Given the description of an element on the screen output the (x, y) to click on. 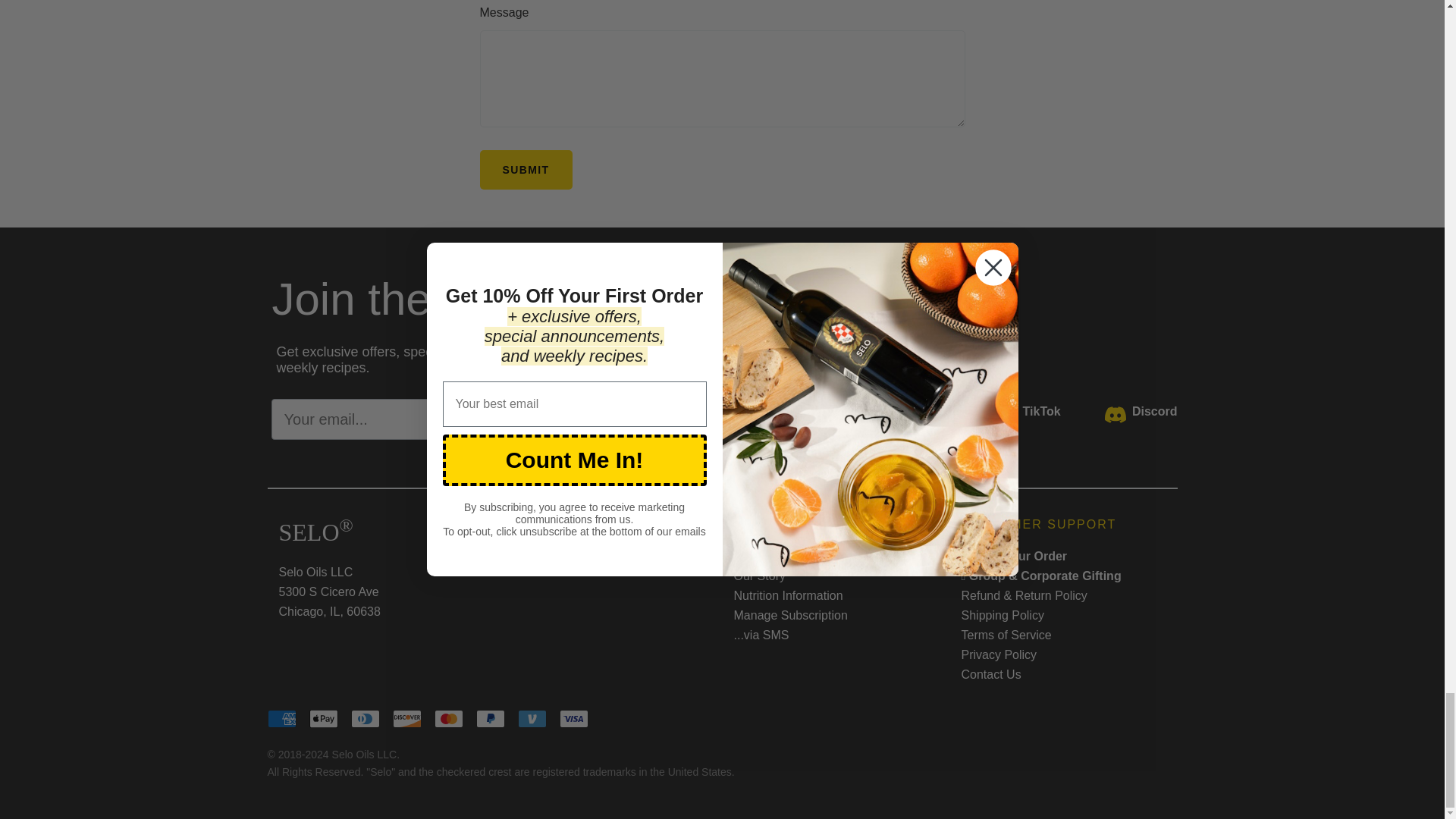
Submit (525, 169)
